Given the description of an element on the screen output the (x, y) to click on. 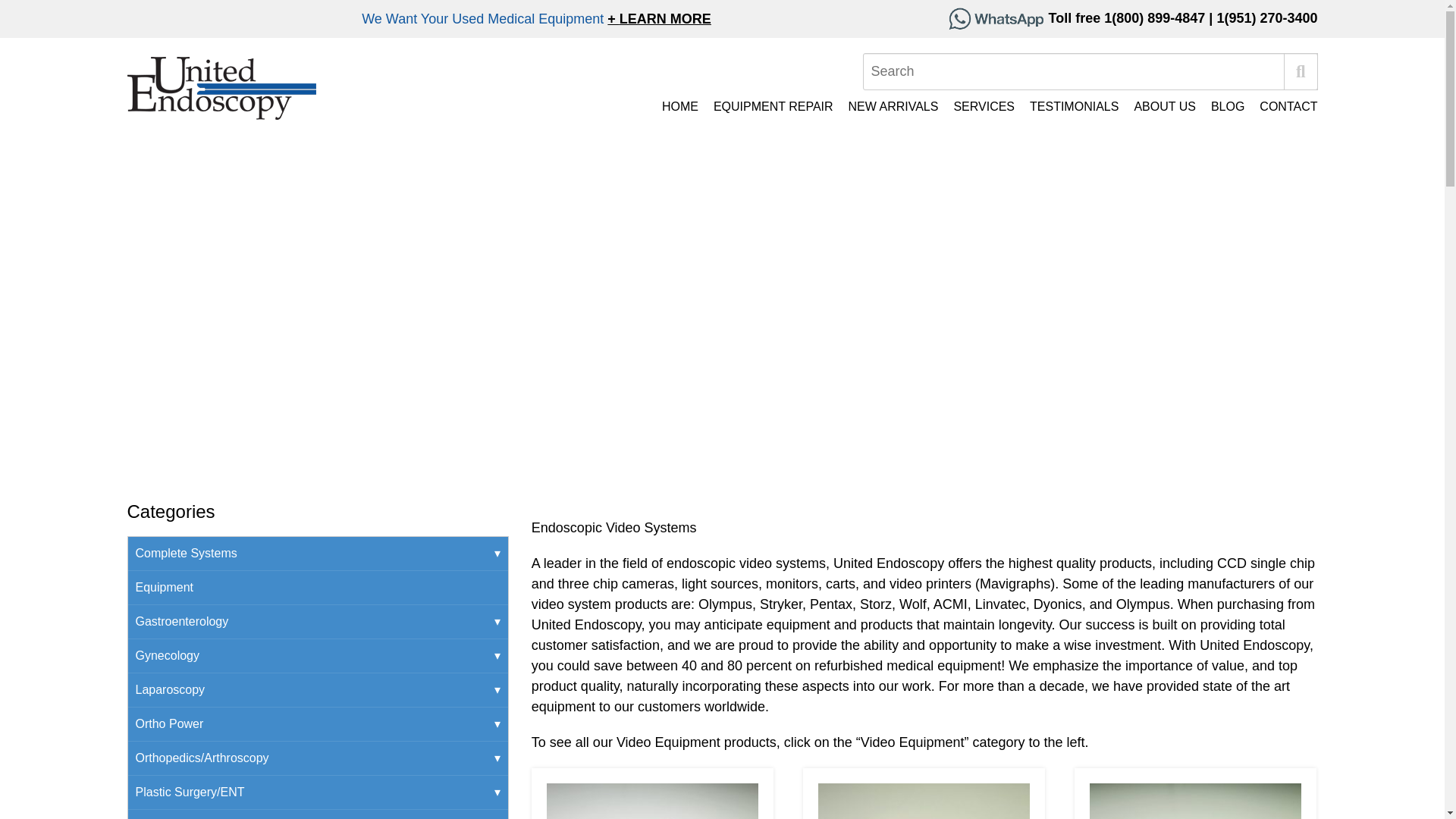
TESTIMONIALS (1066, 106)
ABOUT US (1156, 106)
HOME (672, 106)
EQUIPMENT REPAIR (765, 106)
BLOG (1219, 106)
SERVICES (975, 106)
NEW ARRIVALS (885, 106)
LEARN MORE (659, 19)
CONTACT (1280, 106)
